Given the description of an element on the screen output the (x, y) to click on. 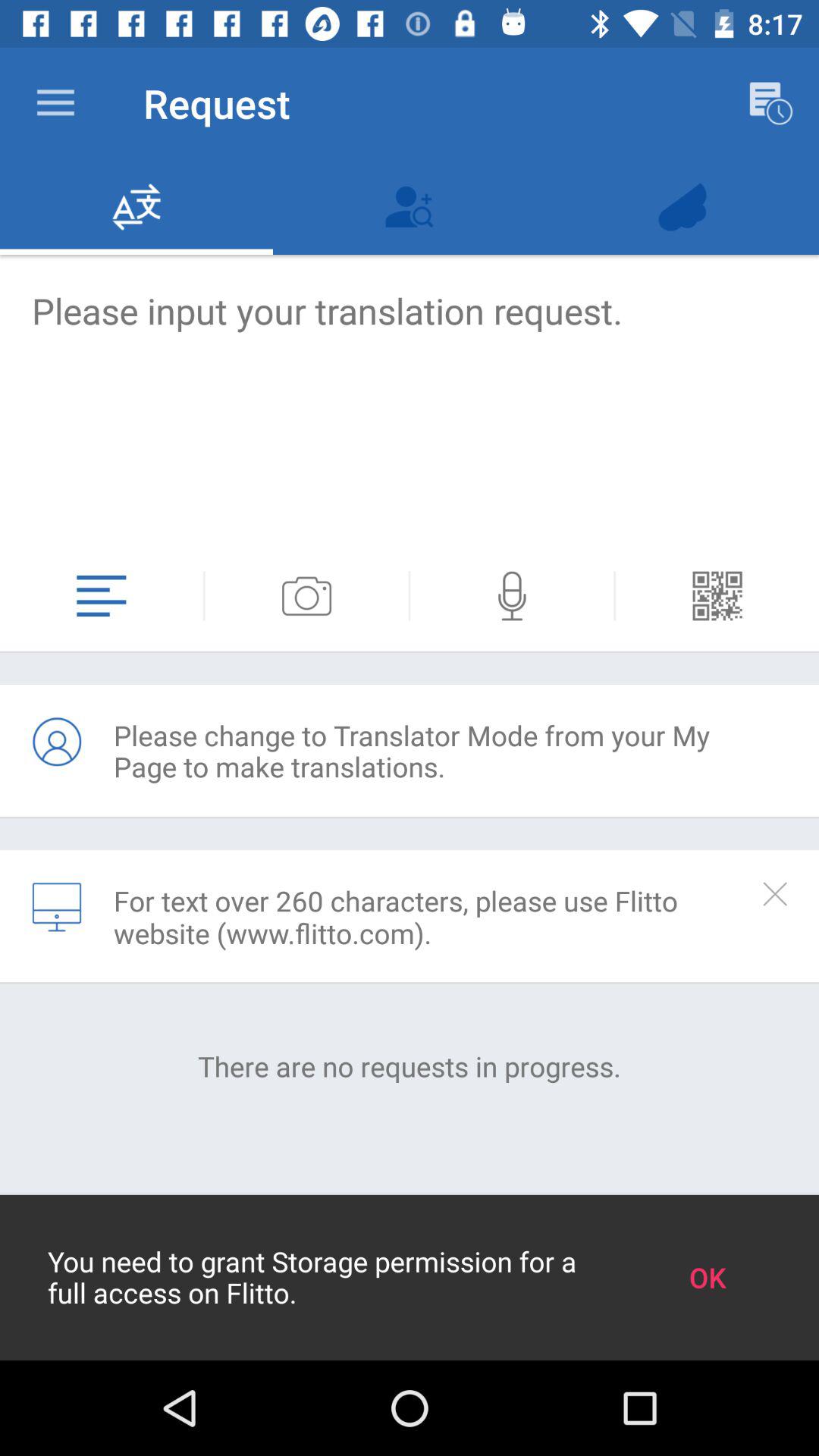
turn off information text (775, 894)
